Given the description of an element on the screen output the (x, y) to click on. 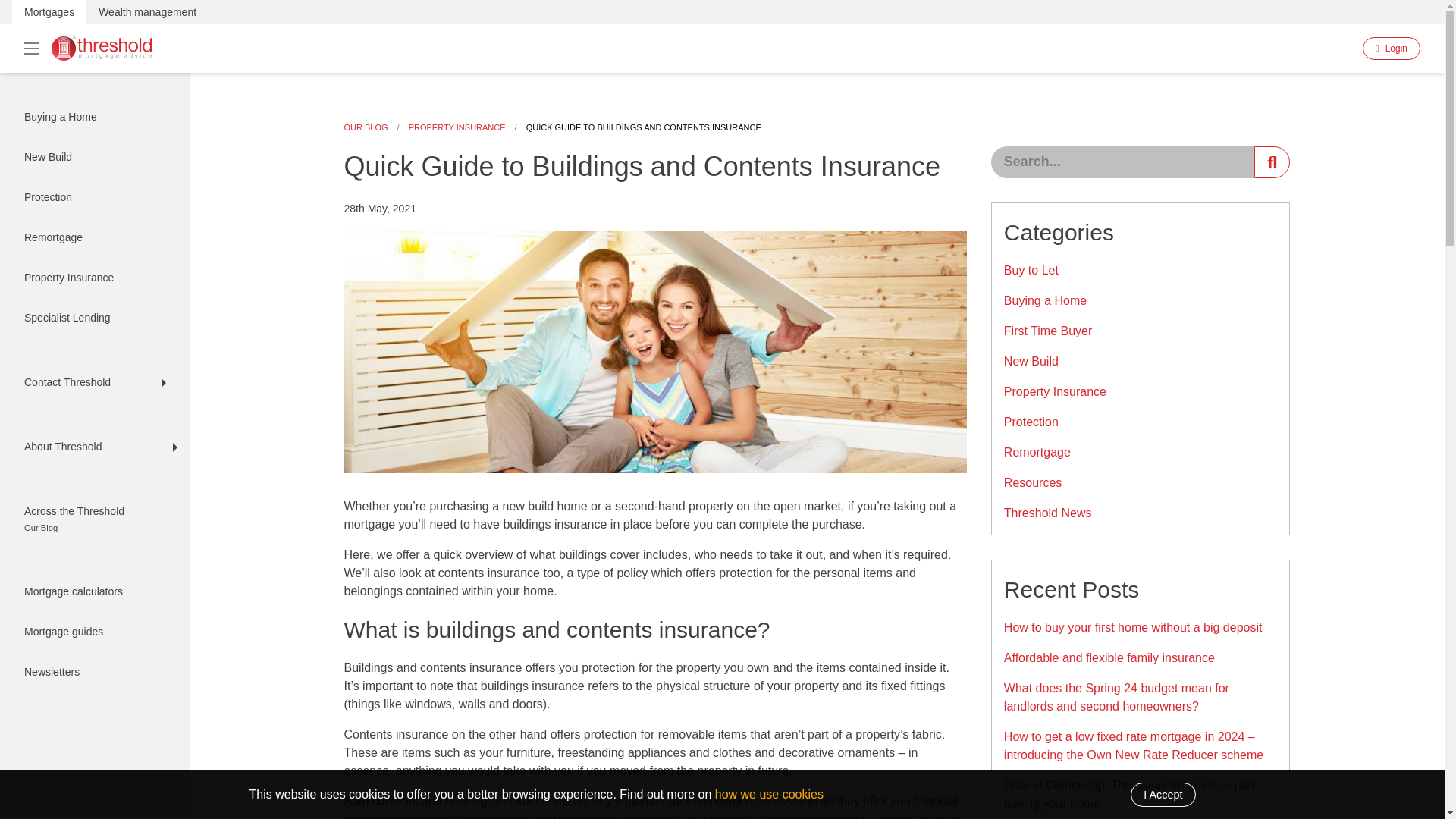
PROPERTY INSURANCE (457, 126)
New Build (88, 157)
Specialist Lending (88, 318)
Mortgage calculators (94, 591)
Mortgages (48, 12)
Mortgage guides (94, 631)
Login (1391, 47)
Buying a Home (88, 117)
Protection (88, 197)
I Accept (1163, 794)
Newsletters (94, 671)
About Threshold (94, 446)
Property Insurance (88, 277)
Contact Threshold (88, 382)
